Given the description of an element on the screen output the (x, y) to click on. 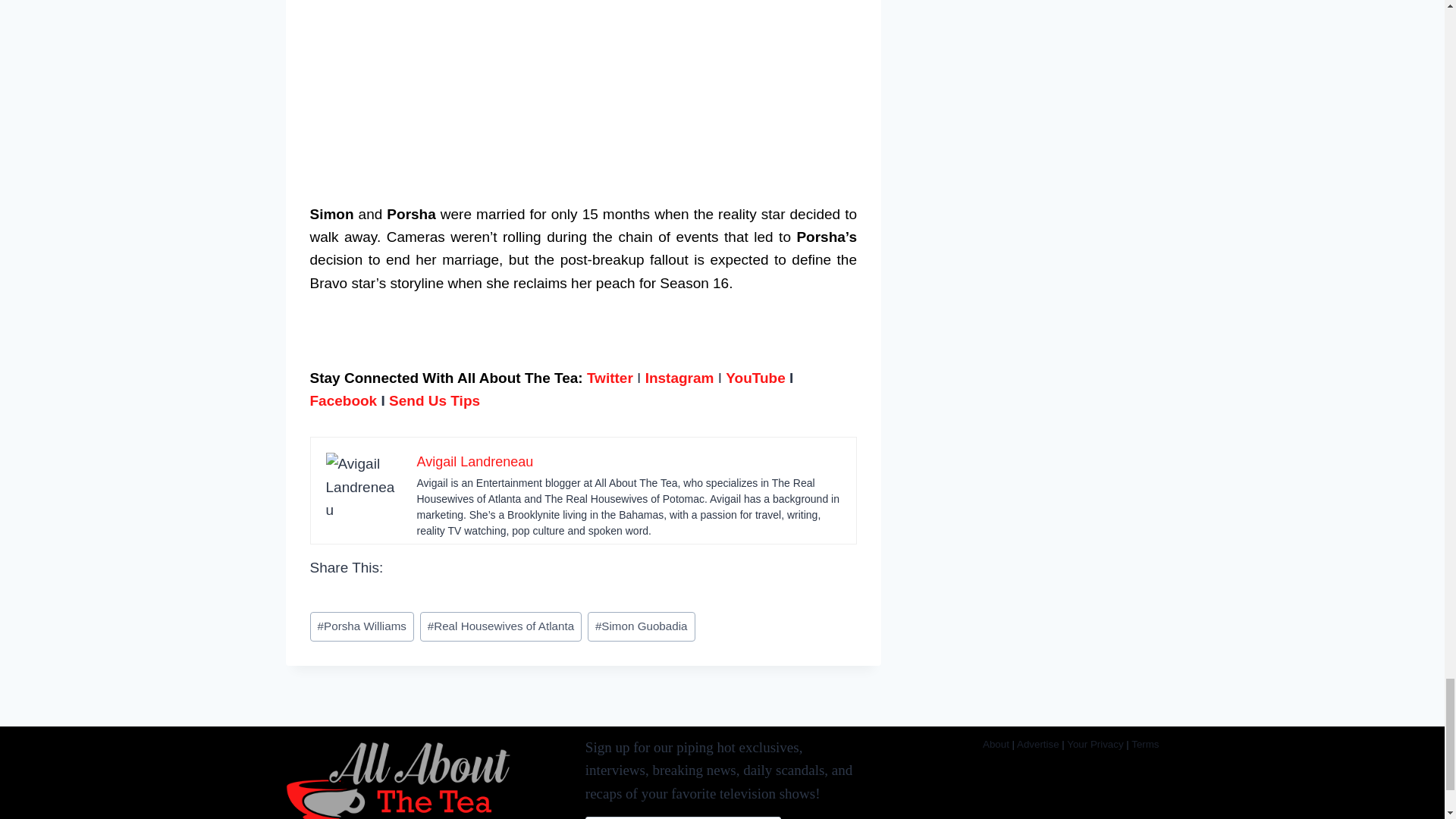
Twitter (609, 377)
Send Us Tips (434, 400)
YouTube (754, 377)
Instagram (679, 377)
Facebook (342, 400)
